Given the description of an element on the screen output the (x, y) to click on. 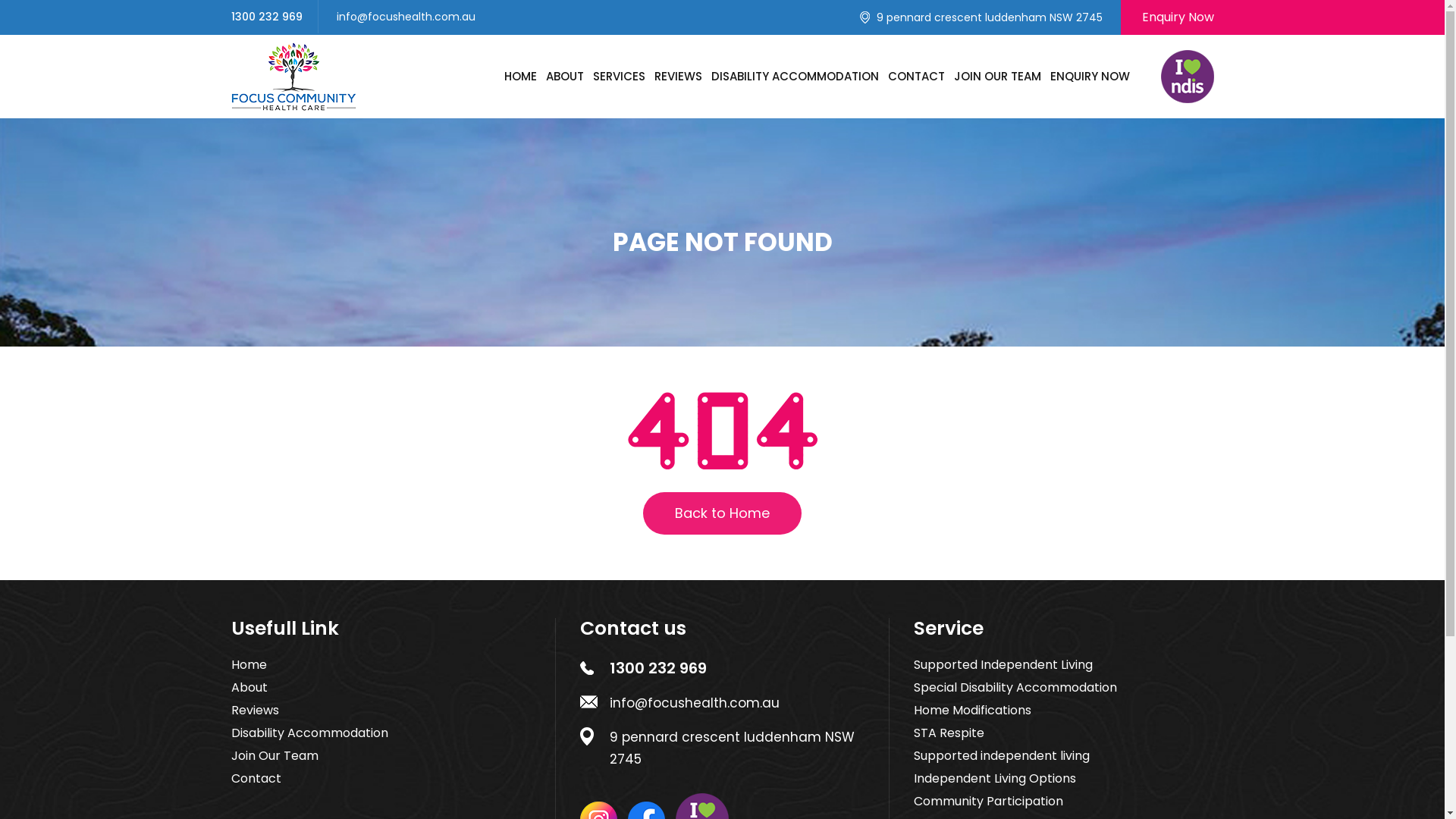
Join Our Team Element type: text (273, 755)
Back to Home Element type: text (722, 513)
HOME Element type: text (519, 76)
Supported Independent Living Element type: text (1002, 664)
REVIEWS Element type: text (677, 76)
Home Element type: text (248, 664)
Contact Element type: text (255, 778)
Disability Accommodation Element type: text (308, 733)
About Element type: text (248, 687)
STA Respite Element type: text (948, 733)
Enquiry Now Element type: text (1167, 17)
SERVICES Element type: text (619, 76)
info@focushealth.com.au Element type: text (694, 703)
CONTACT Element type: text (915, 76)
1300 232 969 Element type: text (265, 16)
Special Disability Accommodation Element type: text (1014, 687)
ABOUT Element type: text (564, 76)
DISABILITY ACCOMMODATION Element type: text (794, 76)
ENQUIRY NOW Element type: text (1089, 76)
Home Modifications Element type: text (971, 710)
Reviews Element type: text (254, 710)
info@focushealth.com.au Element type: text (405, 16)
JOIN OUR TEAM Element type: text (997, 76)
1300 232 969 Element type: text (657, 667)
Supported independent living Element type: text (1000, 755)
SKIP TO CONTENT Element type: text (503, 69)
Independent Living Options Element type: text (994, 778)
Community Participation Element type: text (987, 801)
